Given the description of an element on the screen output the (x, y) to click on. 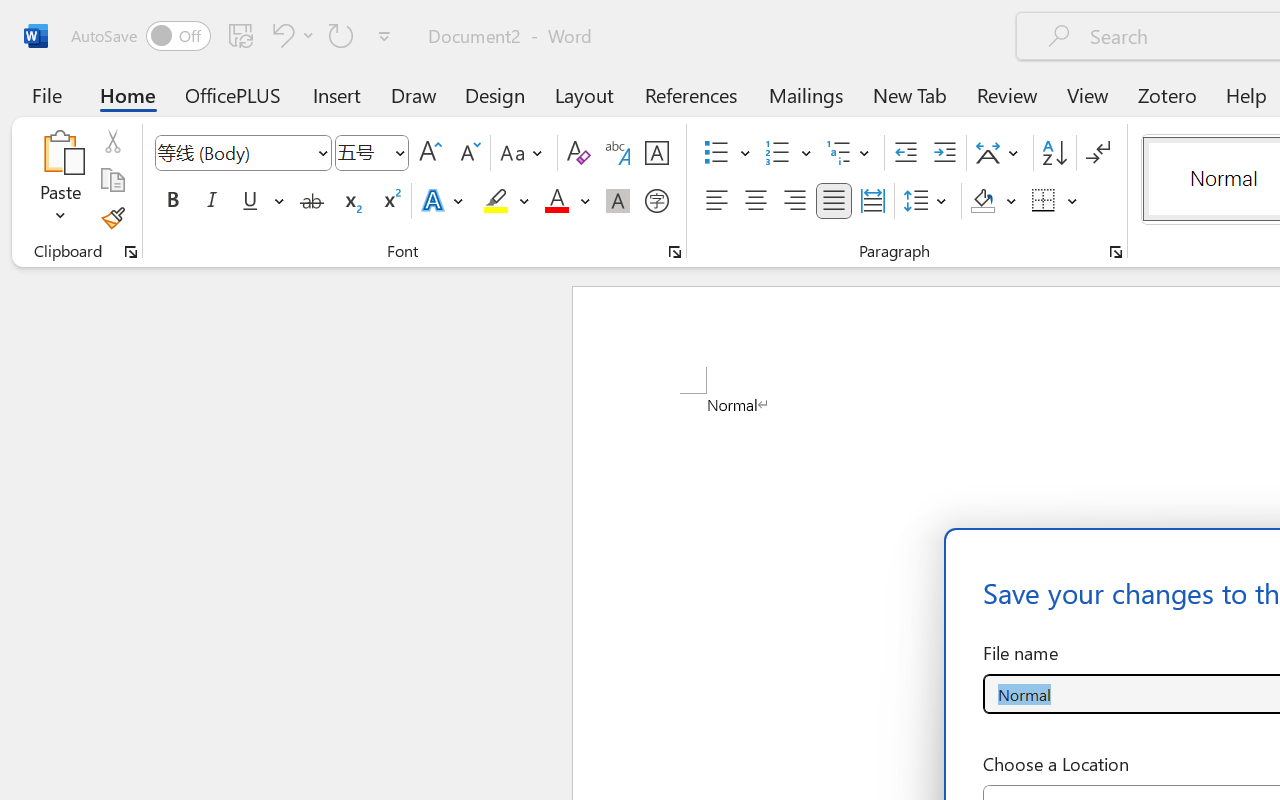
Font Size (362, 152)
File Tab (46, 94)
Font Size (372, 153)
Text Highlight Color Yellow (495, 201)
Decrease Indent (906, 153)
Font Color (567, 201)
Grow Font (430, 153)
Center (756, 201)
Underline (250, 201)
Repeat Doc Close (341, 35)
Font (234, 152)
Subscript (350, 201)
Insert (337, 94)
Zotero (1166, 94)
Open (399, 152)
